Given the description of an element on the screen output the (x, y) to click on. 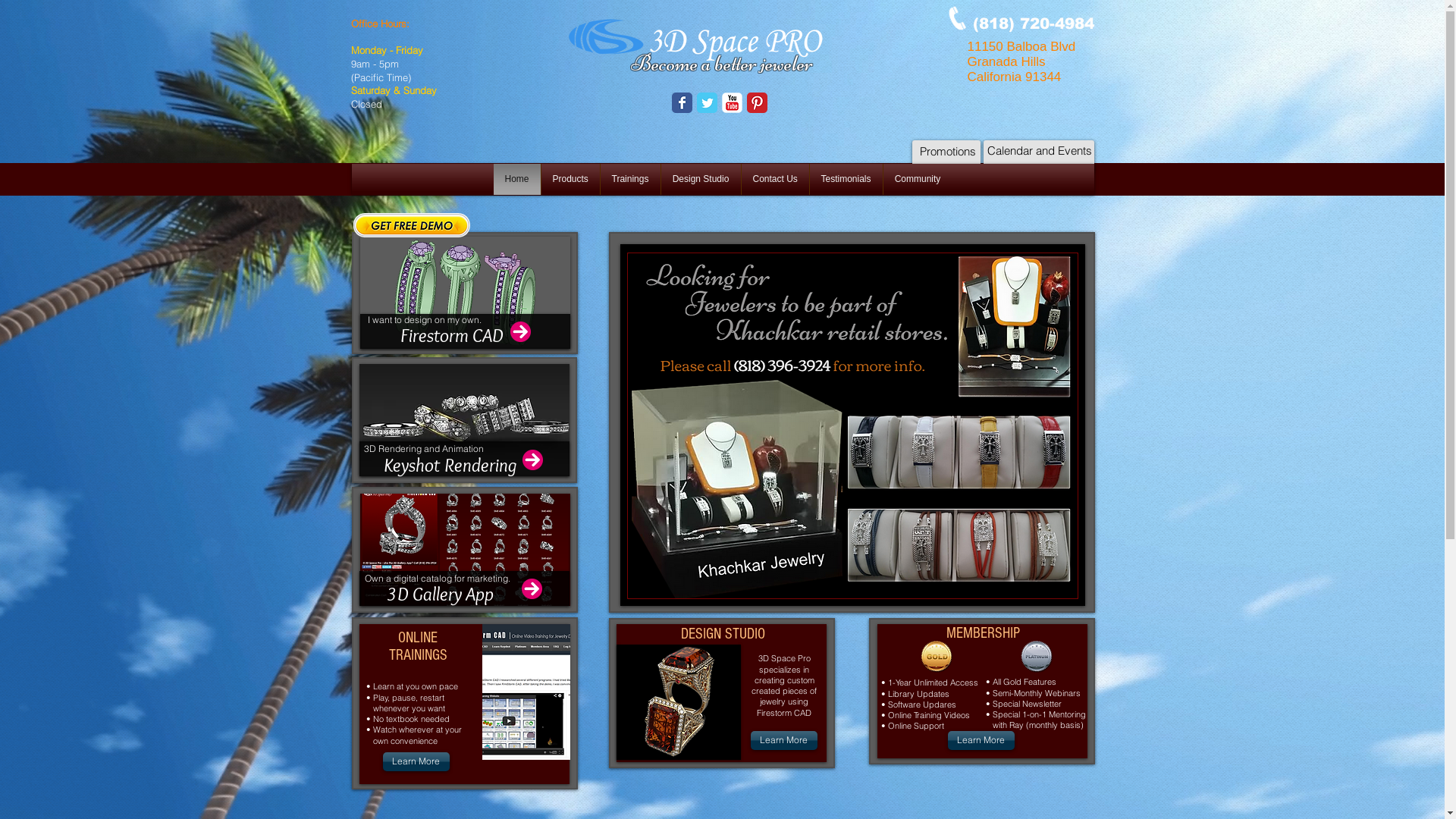
Contact Us Element type: text (774, 178)
Learn More Element type: text (415, 761)
Learn More Element type: text (783, 740)
Own a digital catalog for marketing. Element type: text (436, 578)
Learn More Element type: text (980, 740)
Design Studio Element type: text (700, 178)
3D Gallery App Element type: text (480, 593)
SpaceClaim.1762.jpg Element type: hover (464, 420)
Home Element type: text (516, 178)
Calendar and Events Element type: text (1038, 150)
Gallery app.PNG Element type: hover (464, 549)
Community Element type: text (917, 178)
Keyshot Rendering Element type: text (480, 464)
Products Element type: text (569, 178)
Trainings Element type: text (629, 178)
I want to design on my own. Element type: text (424, 319)
3D Rendering and Animation Element type: text (422, 448)
Firestorm CAD Element type: text (484, 334)
Testimonials Element type: text (845, 178)
Promotions Element type: text (947, 151)
